Given the description of an element on the screen output the (x, y) to click on. 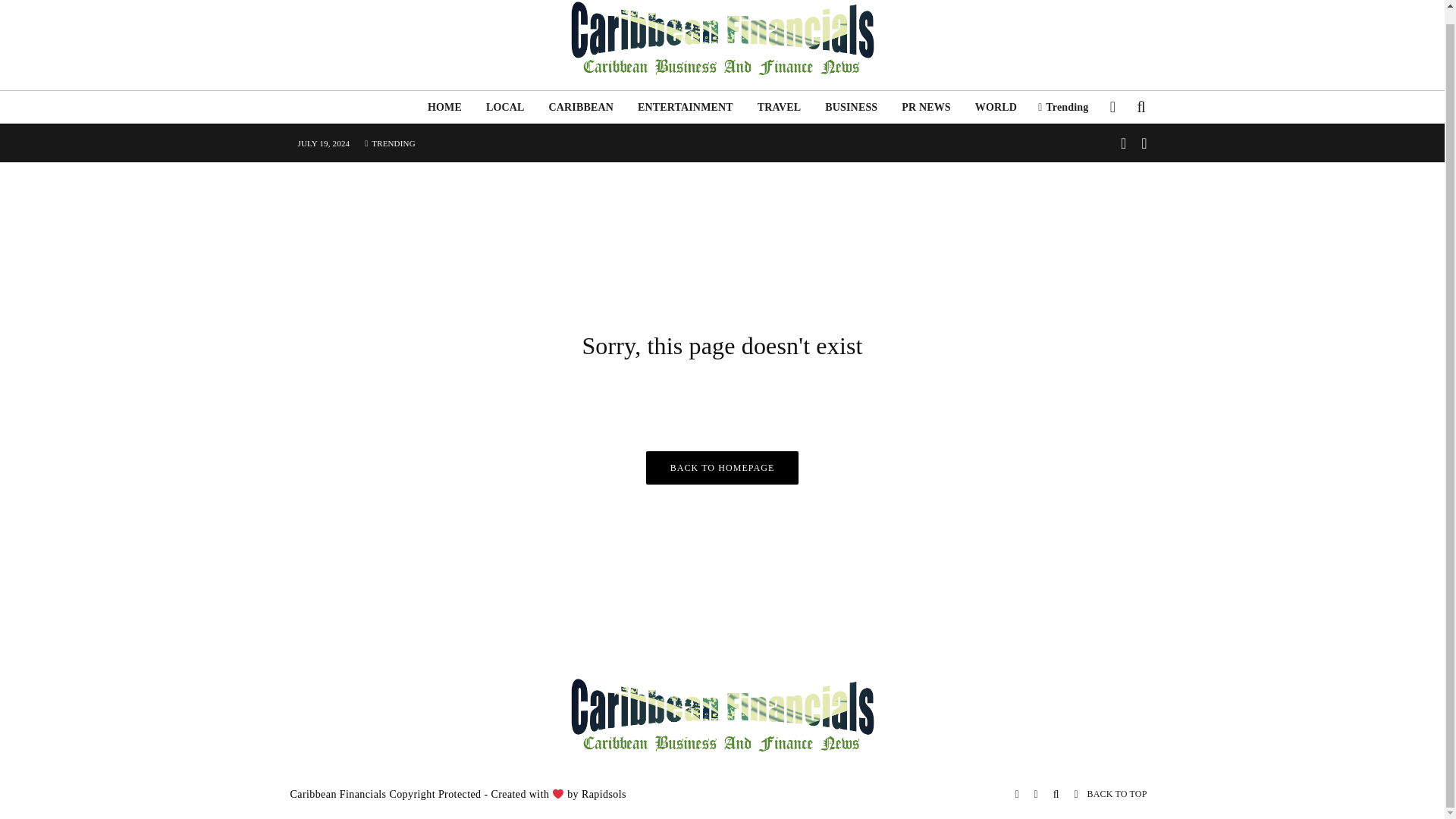
LOCAL (505, 106)
ENTERTAINMENT (685, 106)
TRAVEL (779, 106)
HOME (444, 106)
CARIBBEAN (581, 106)
